Given the description of an element on the screen output the (x, y) to click on. 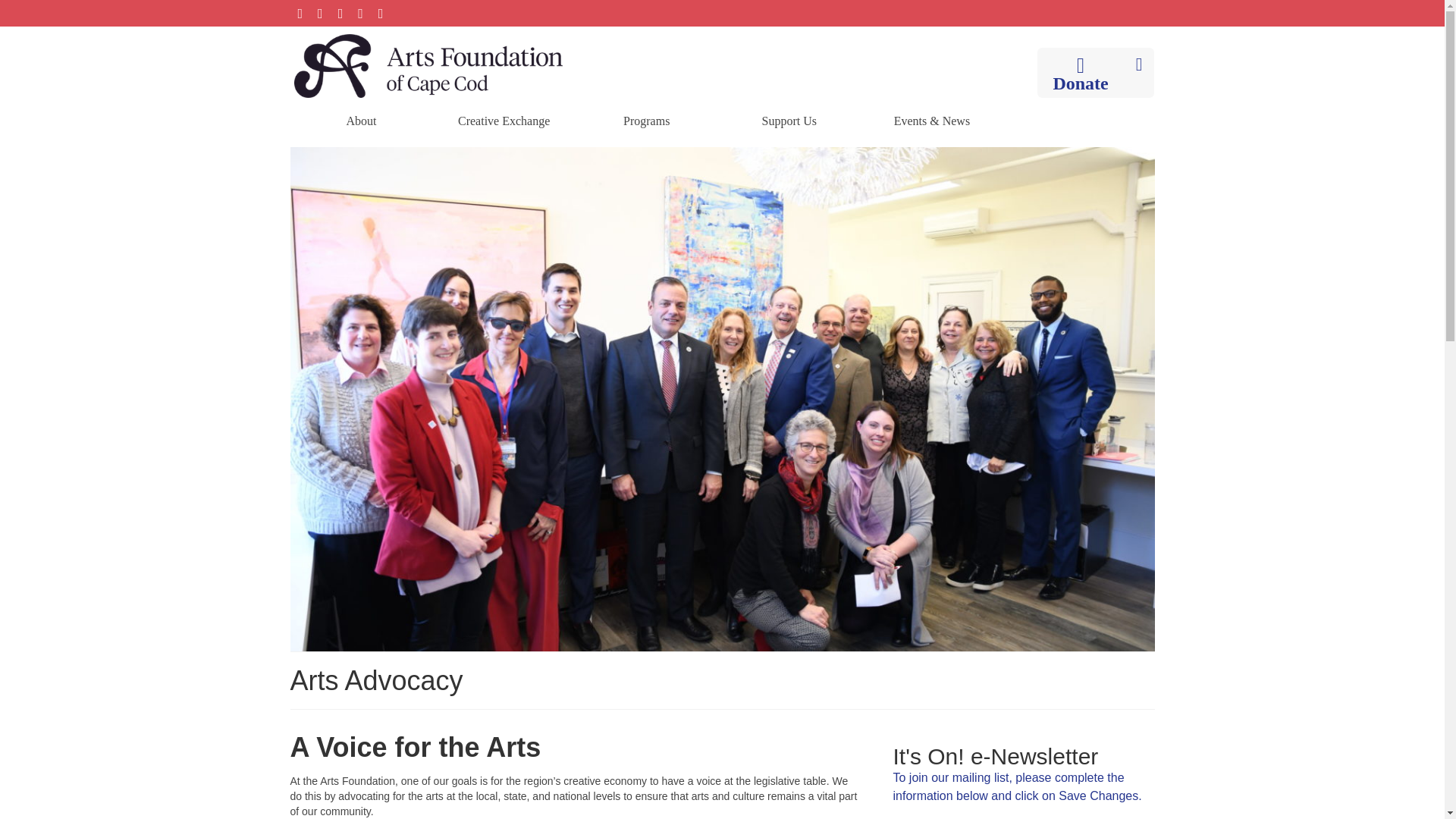
Arts Foundation of Cape Cod (428, 65)
LinkedIn (381, 13)
Instagram (340, 13)
About (360, 121)
YouTube (360, 13)
Search (1139, 64)
Twitter (320, 13)
Facebook (299, 13)
